Given the description of an element on the screen output the (x, y) to click on. 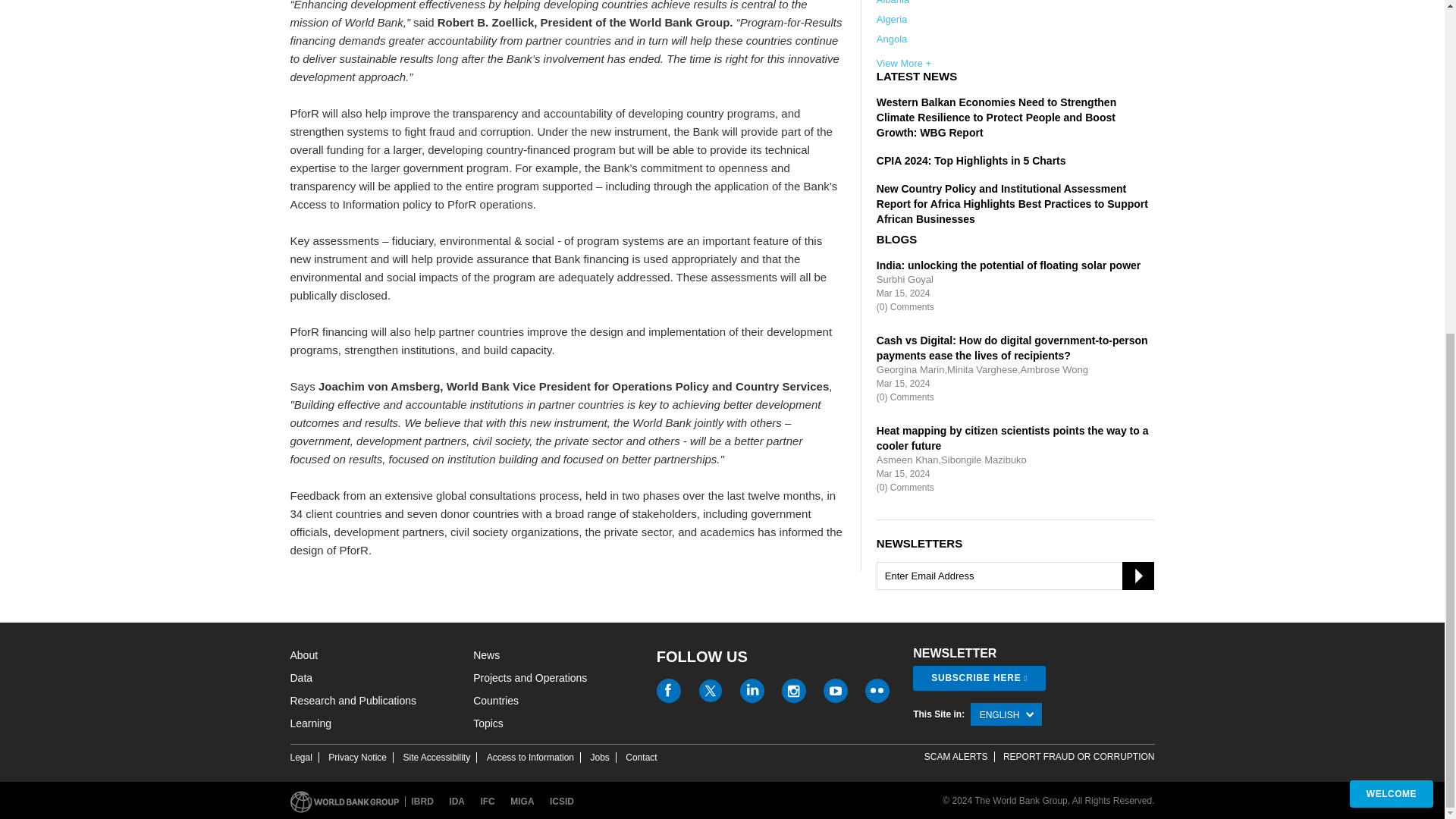
Enter Email Address (1015, 575)
Enter Email Address (1015, 575)
